Given the description of an element on the screen output the (x, y) to click on. 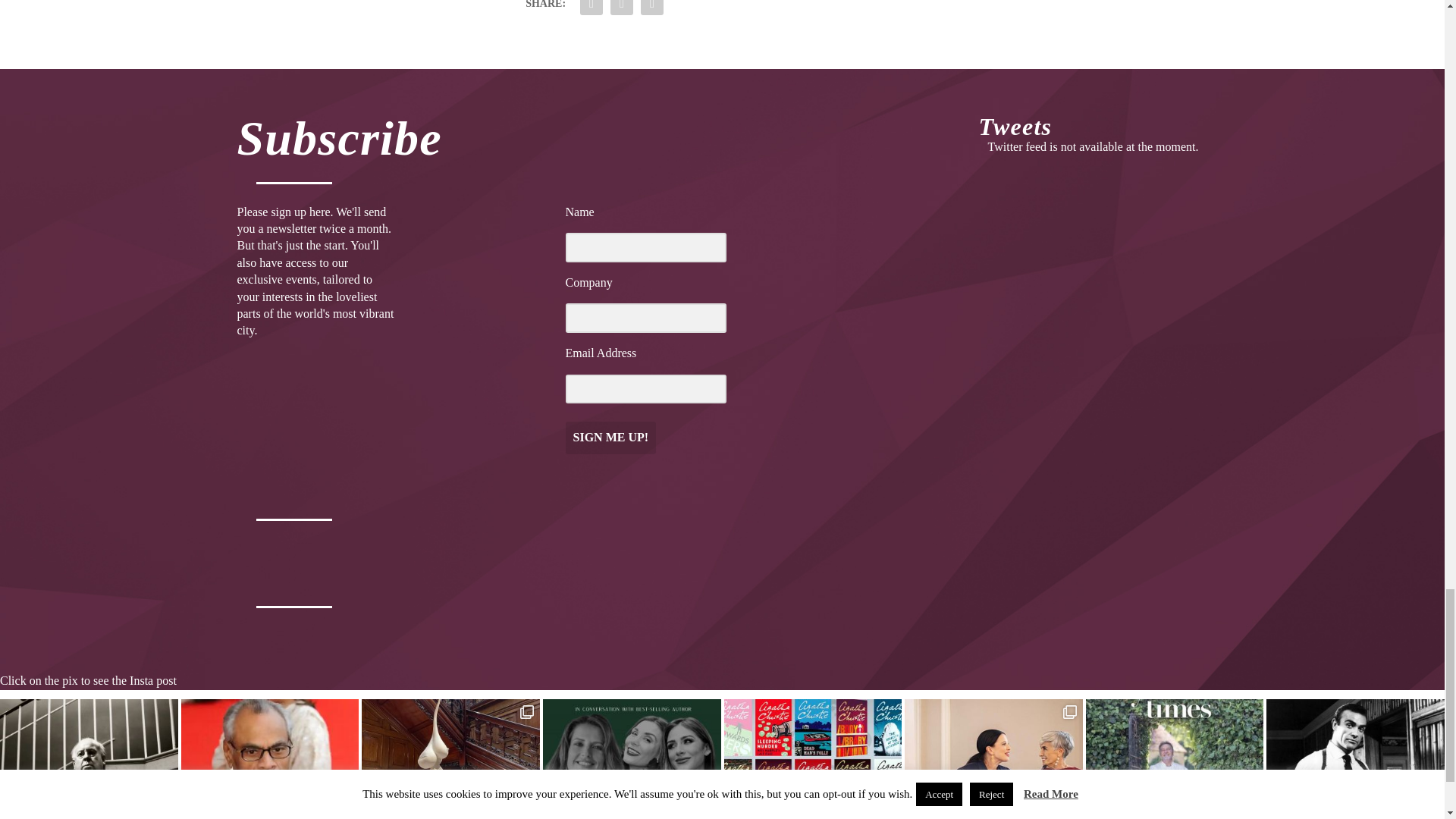
Share "The Officer" via Twitter (622, 9)
Share "The Officer" via Facebook (591, 9)
Share "The Officer" via Email (651, 9)
